Given the description of an element on the screen output the (x, y) to click on. 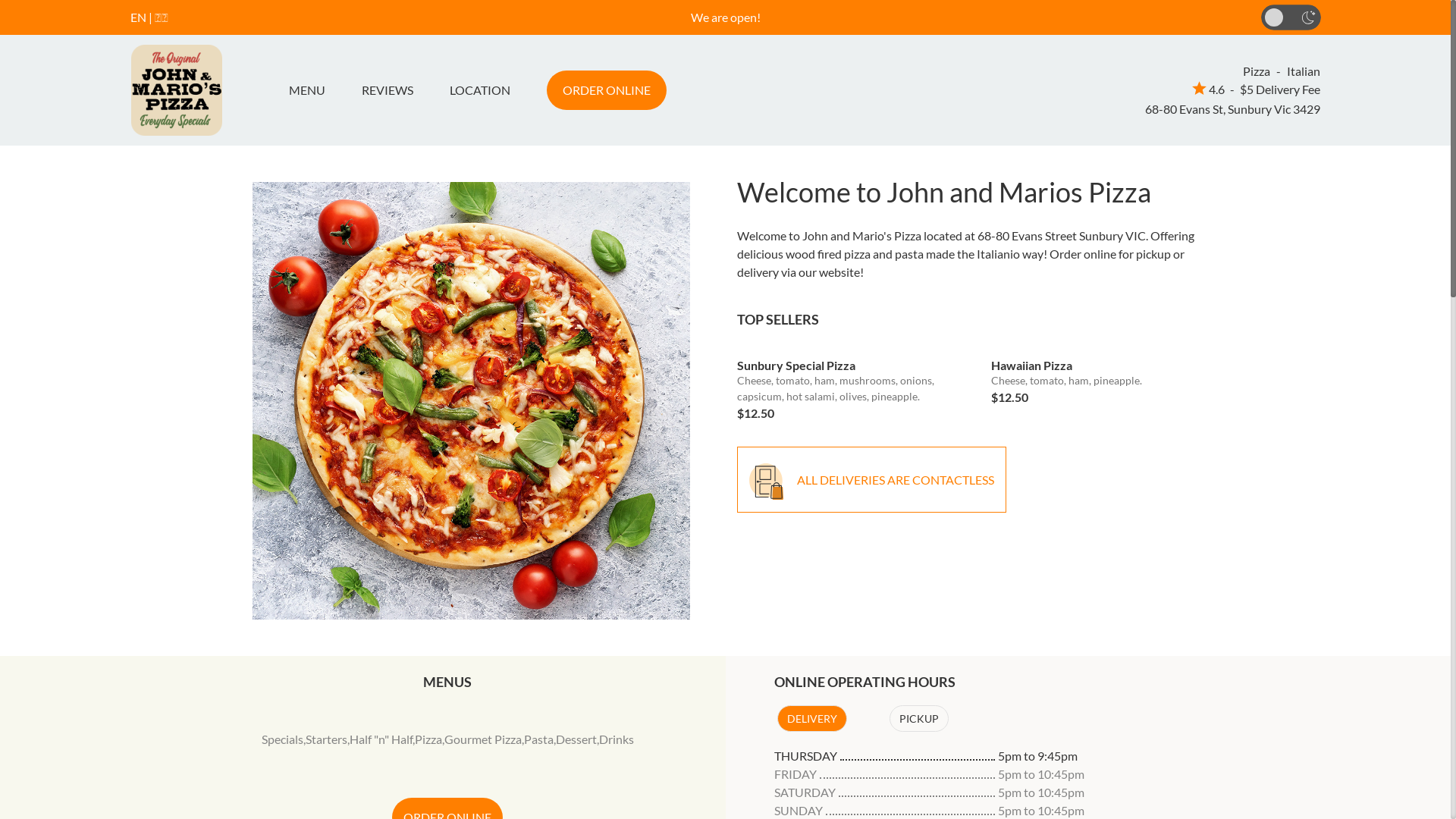
4.6 Element type: text (1208, 88)
Dessert Element type: text (575, 738)
Drinks Element type: text (616, 738)
EN Element type: text (138, 16)
REVIEWS Element type: text (386, 90)
LOCATION Element type: text (478, 90)
Pizza Element type: text (428, 738)
PICKUP Element type: text (917, 718)
DELIVERY Element type: text (811, 718)
Hawaiian Pizza
Cheese, tomato, ham, pineapple.
$12.50 Element type: text (1107, 376)
ORDER ONLINE Element type: text (605, 89)
Specials Element type: text (282, 738)
Pasta Element type: text (538, 738)
Starters Element type: text (326, 738)
MENU Element type: text (312, 90)
Half "n" Half Element type: text (380, 738)
Gourmet Pizza Element type: text (482, 738)
